Given the description of an element on the screen output the (x, y) to click on. 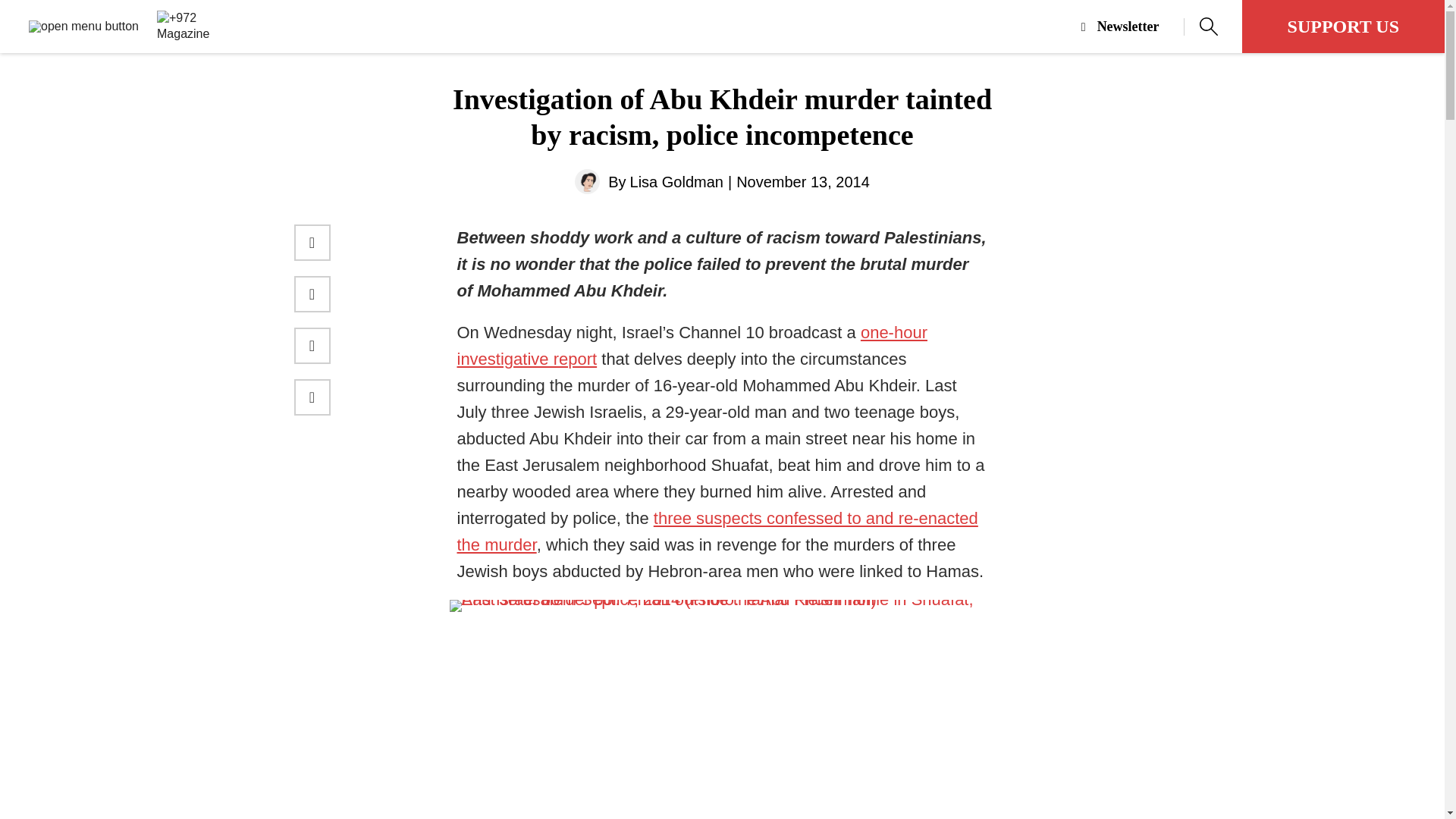
one-hour investigative report (691, 345)
Lisa Goldman (587, 181)
three suspects confessed to and re-enacted the murder (716, 531)
Lisa Goldman (676, 181)
Newsletter (1133, 27)
Lisa Goldman (676, 181)
